Given the description of an element on the screen output the (x, y) to click on. 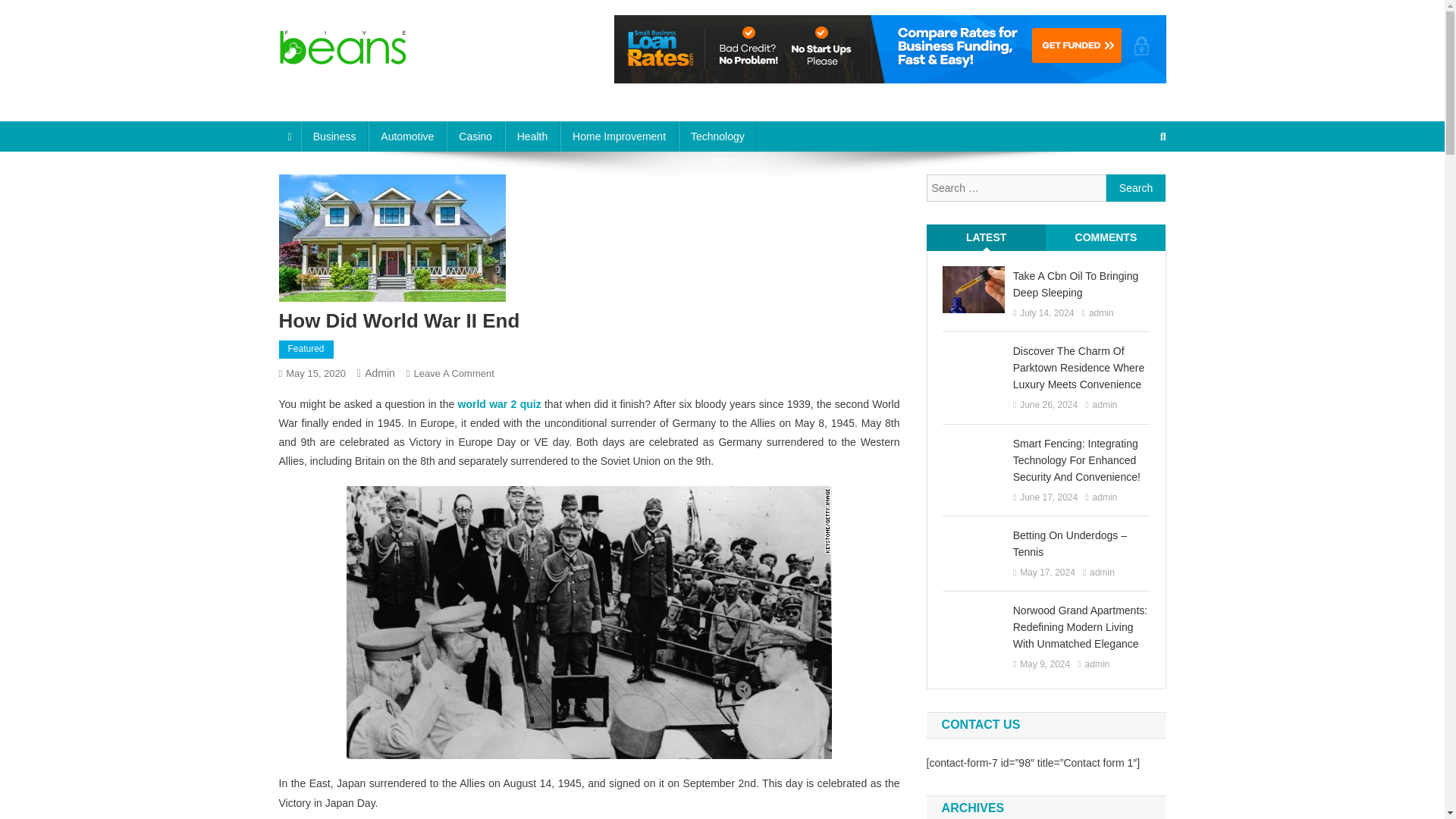
Home Improvement (619, 136)
July 14, 2024 (1047, 313)
Health (532, 136)
COMMENTS (1105, 237)
Automotive (406, 136)
world war 2 quiz (499, 404)
Casino (474, 136)
Take A Cbn Oil To Bringing Deep Sleeping (1081, 284)
Search (454, 373)
Featured (1136, 187)
Admin (306, 349)
Five Bean (379, 372)
May 15, 2020 (336, 79)
Technology (315, 373)
